Given the description of an element on the screen output the (x, y) to click on. 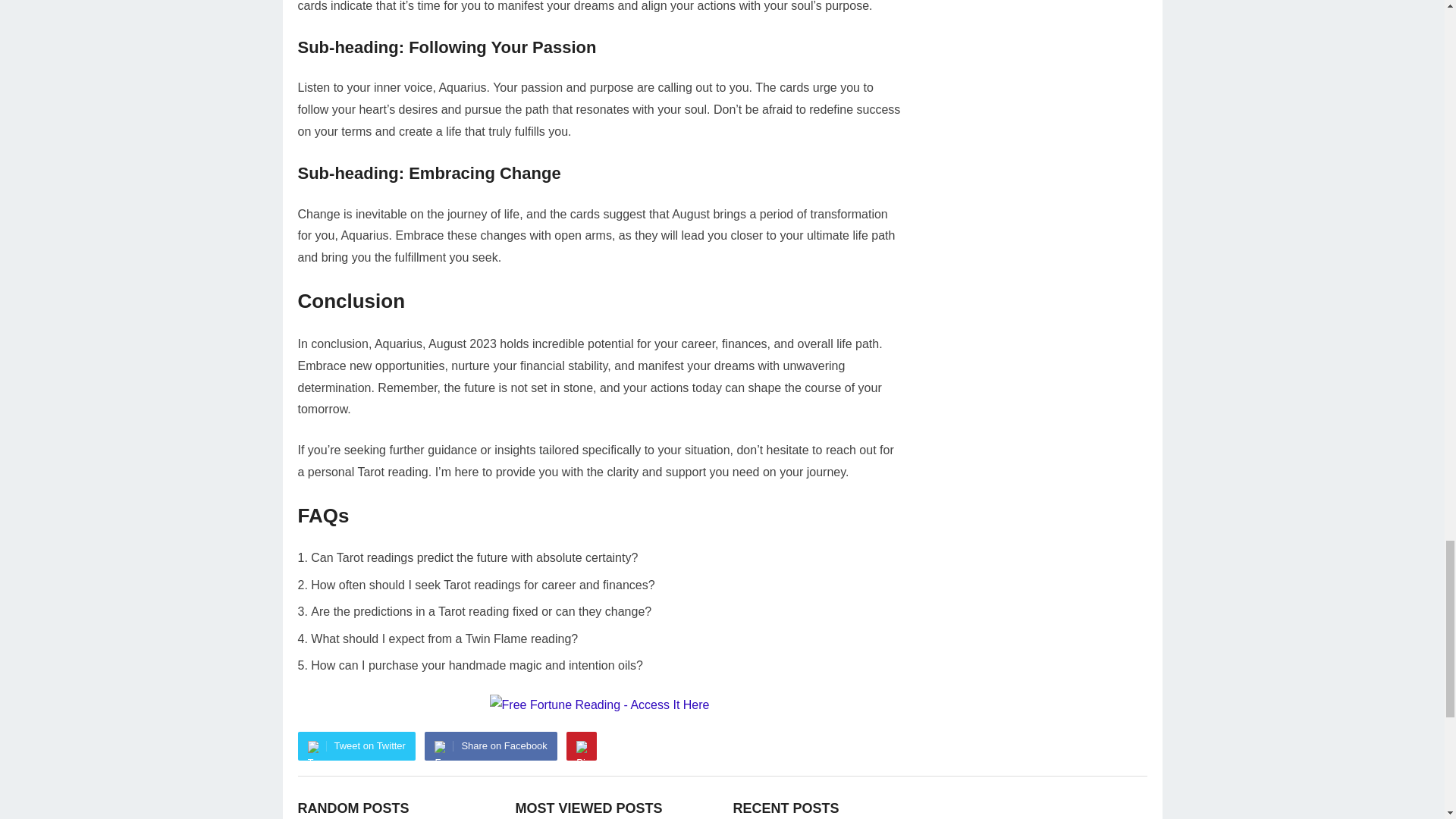
Pinterest (581, 746)
Tweet on Twitter (355, 746)
Share on Facebook (490, 746)
